Given the description of an element on the screen output the (x, y) to click on. 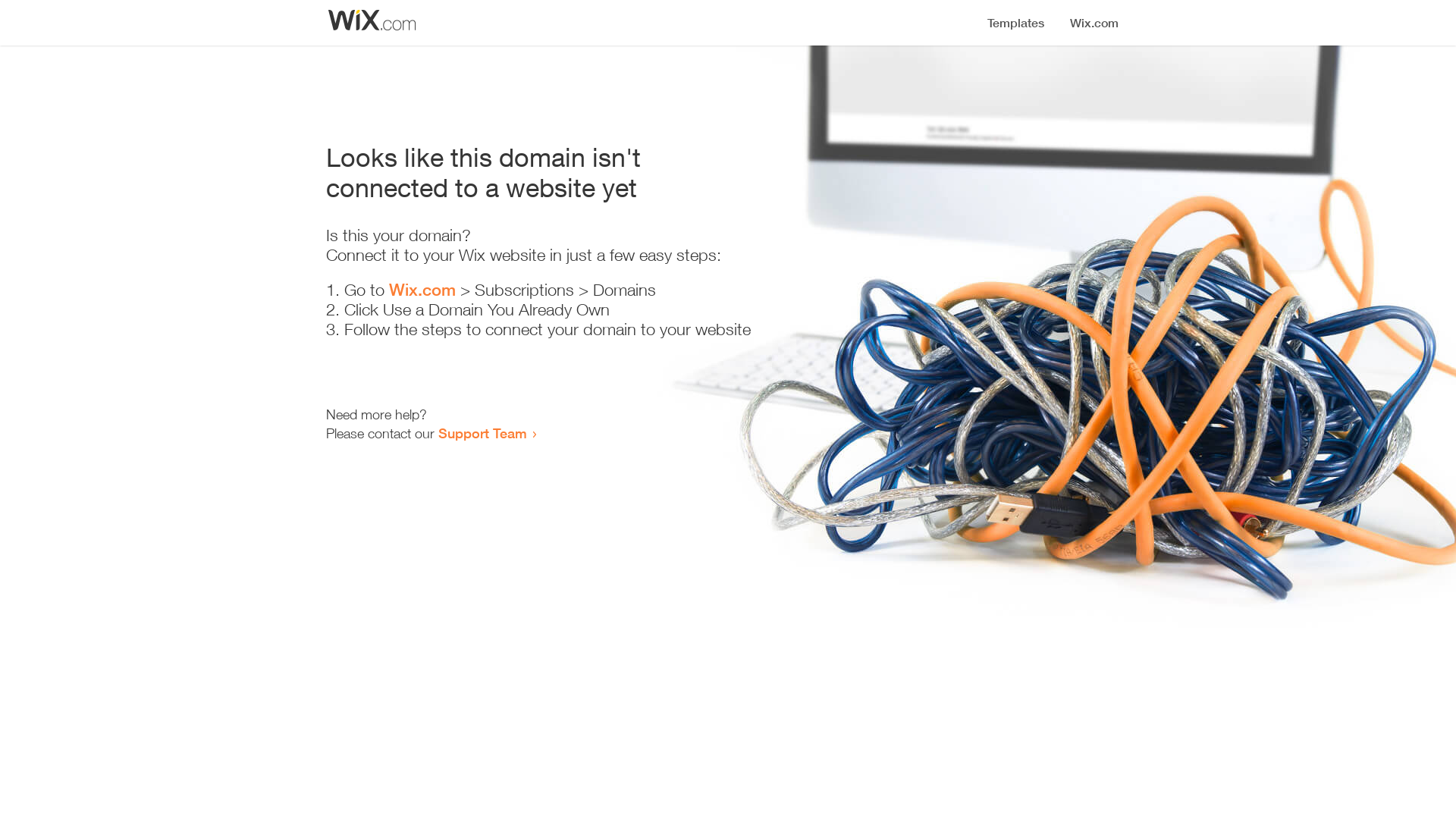
Support Team Element type: text (482, 432)
Wix.com Element type: text (422, 289)
